Given the description of an element on the screen output the (x, y) to click on. 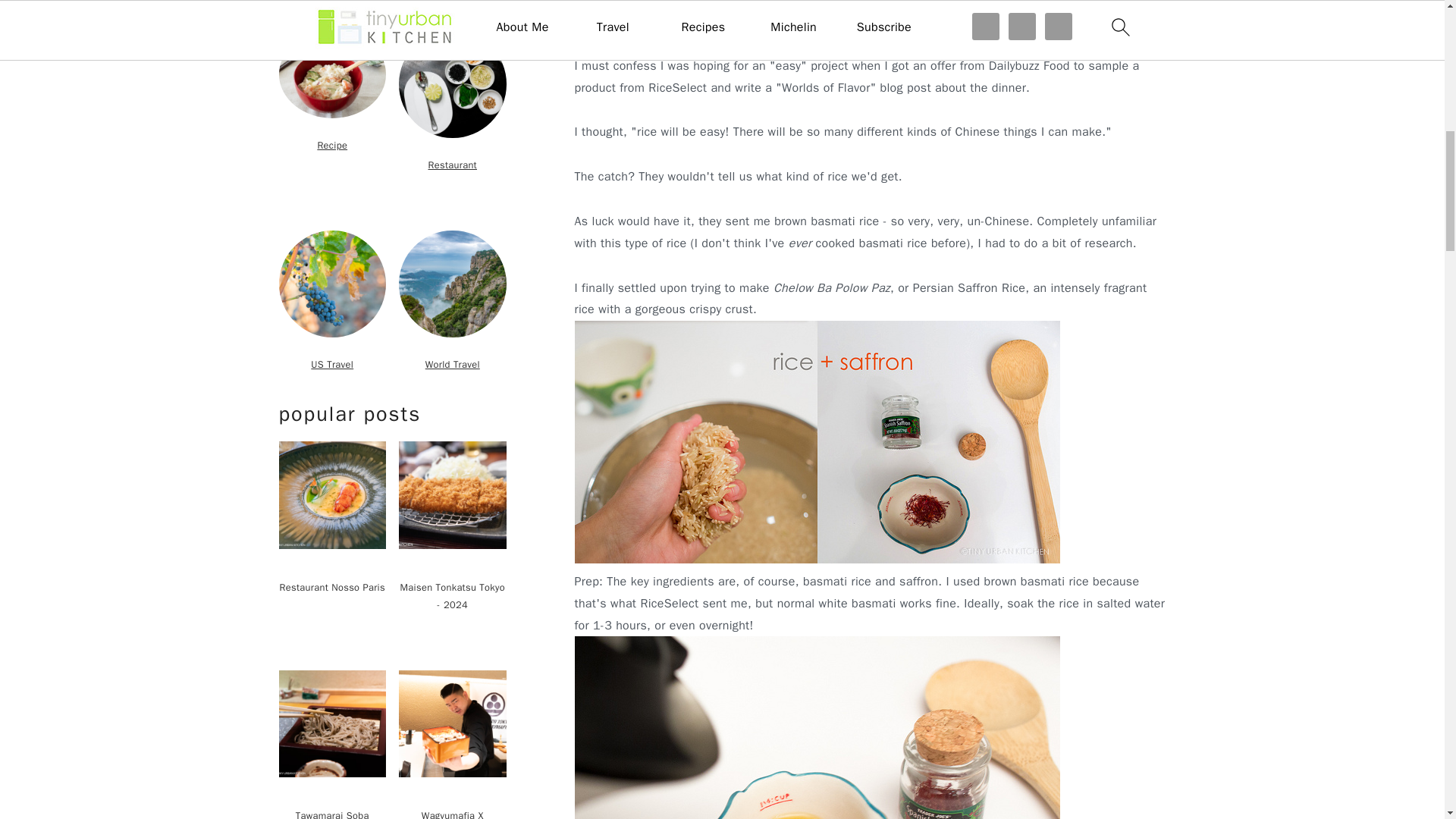
Untitled by tinyurbankitchen, on Flickr (817, 559)
